Given the description of an element on the screen output the (x, y) to click on. 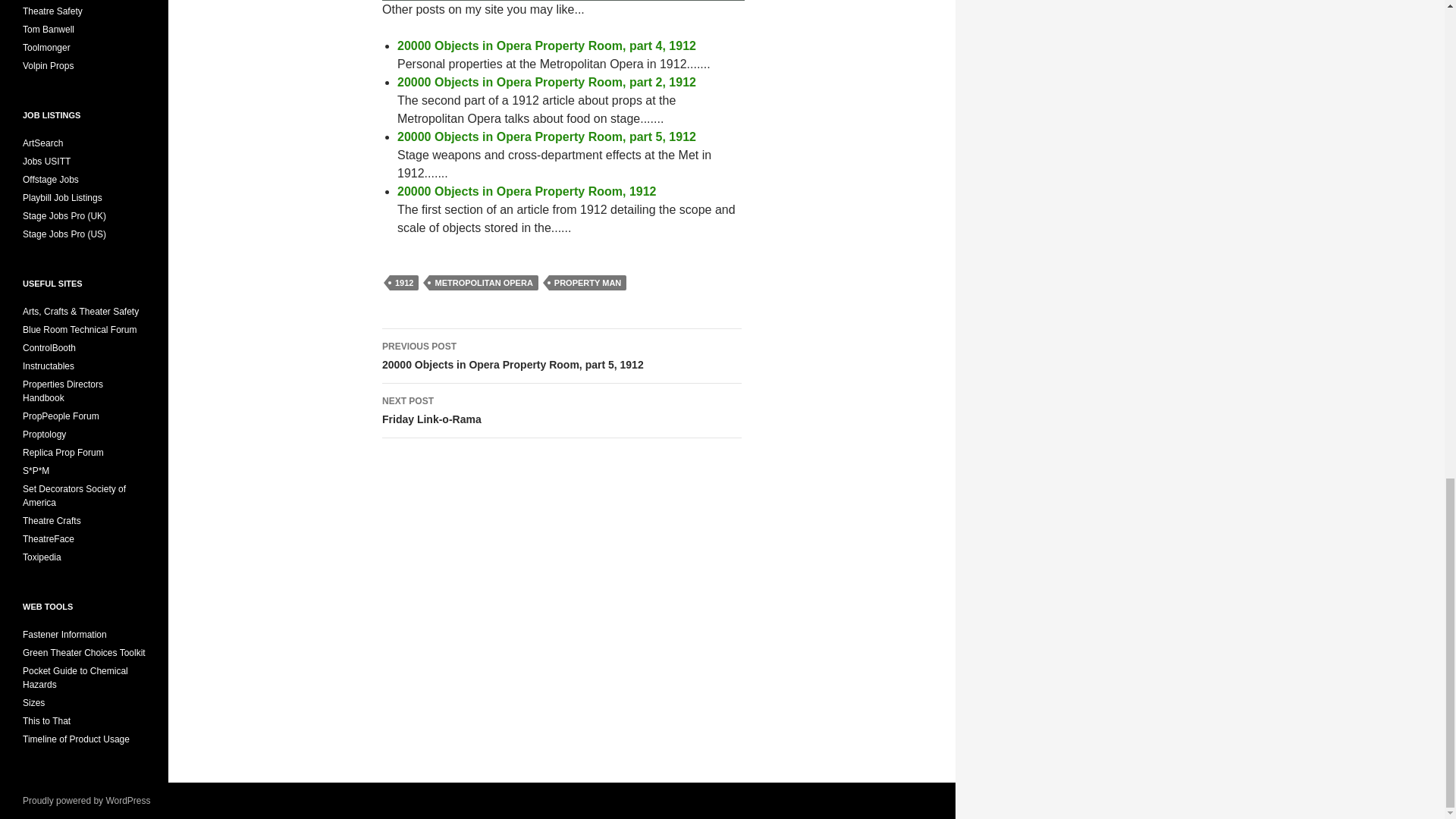
20000 Objects in Opera Property Room, 1912 (526, 191)
PROPERTY MAN (561, 411)
20000 Objects in Opera Property Room, 1912 (587, 282)
20000 Objects in Opera Property Room, part 5, 1912 (526, 191)
20000 Objects in Opera Property Room, part 2, 1912 (546, 136)
METROPOLITAN OPERA (546, 82)
20000 Objects in Opera Property Room, part 2, 1912 (483, 282)
20000 Objects in Opera Property Room, part 4, 1912 (546, 82)
1912 (546, 45)
20000 Objects in Opera Property Room, part 4, 1912 (404, 282)
20000 Objects in Opera Property Room, part 5, 1912 (546, 45)
